Given the description of an element on the screen output the (x, y) to click on. 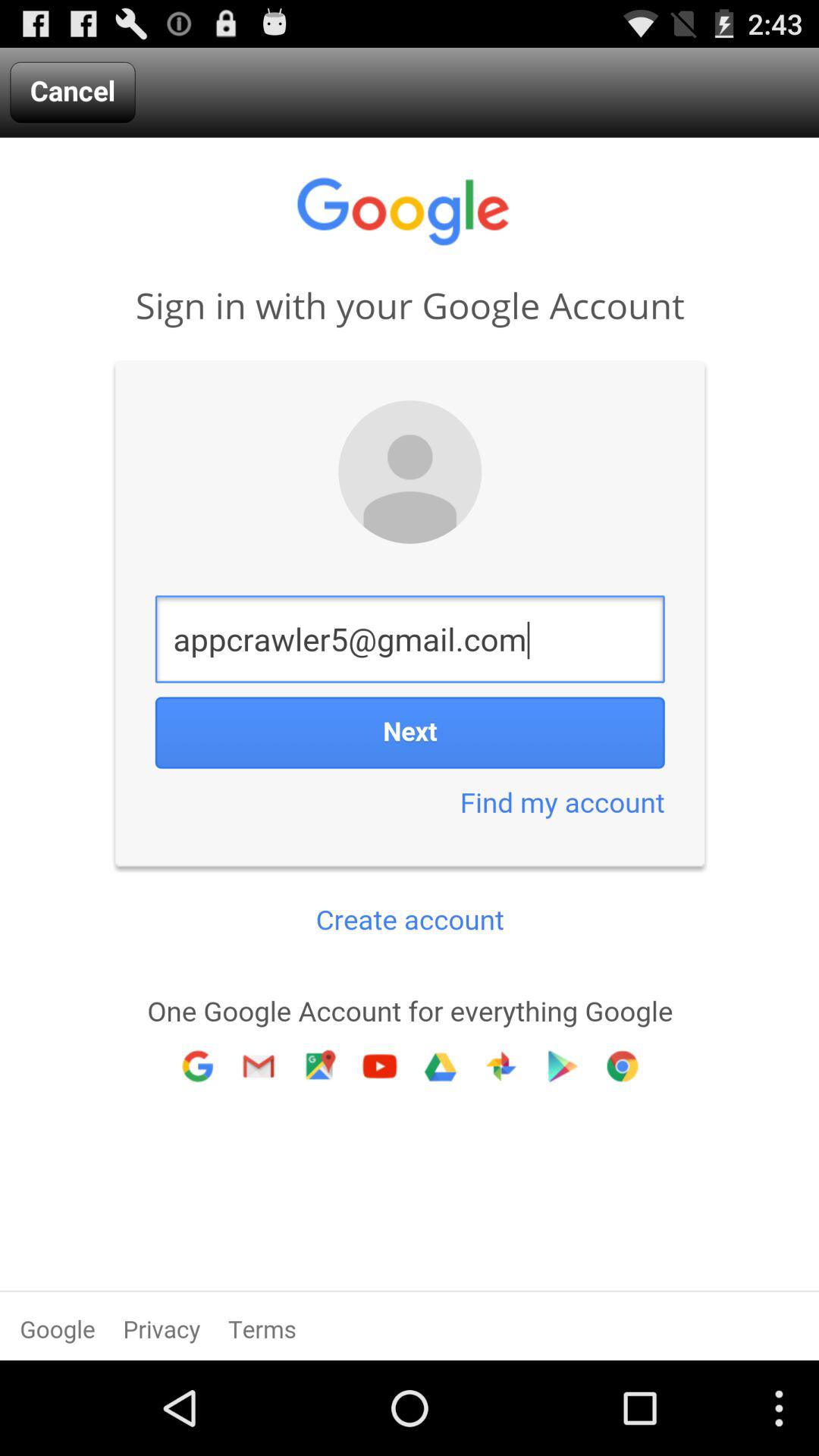
google seach (409, 748)
